Given the description of an element on the screen output the (x, y) to click on. 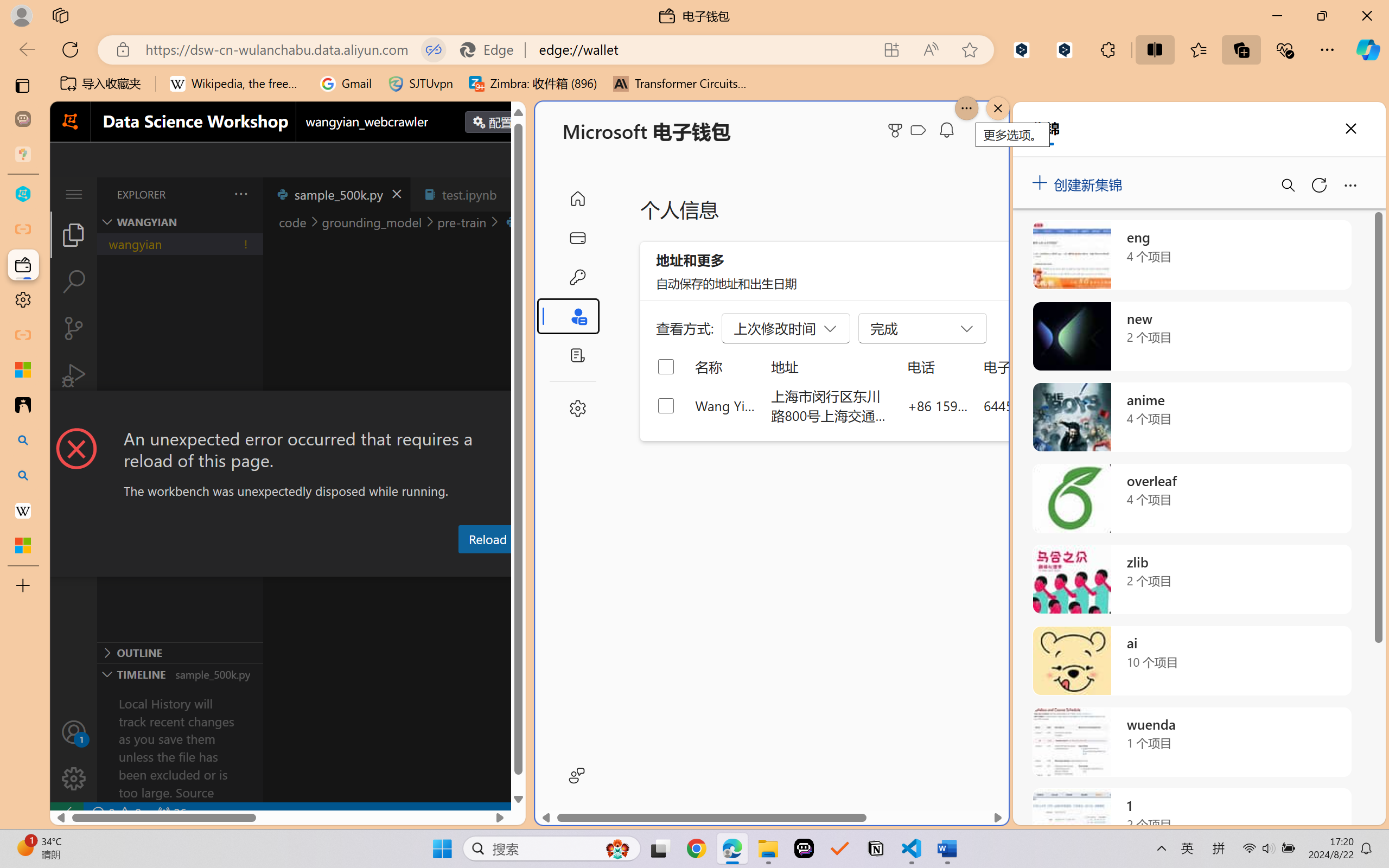
Debug Console (Ctrl+Shift+Y) (463, 565)
Output (Ctrl+Shift+U) (377, 565)
Explorer Section: wangyian (179, 221)
Adjust indents and spacing - Microsoft Support (22, 369)
